Given the description of an element on the screen output the (x, y) to click on. 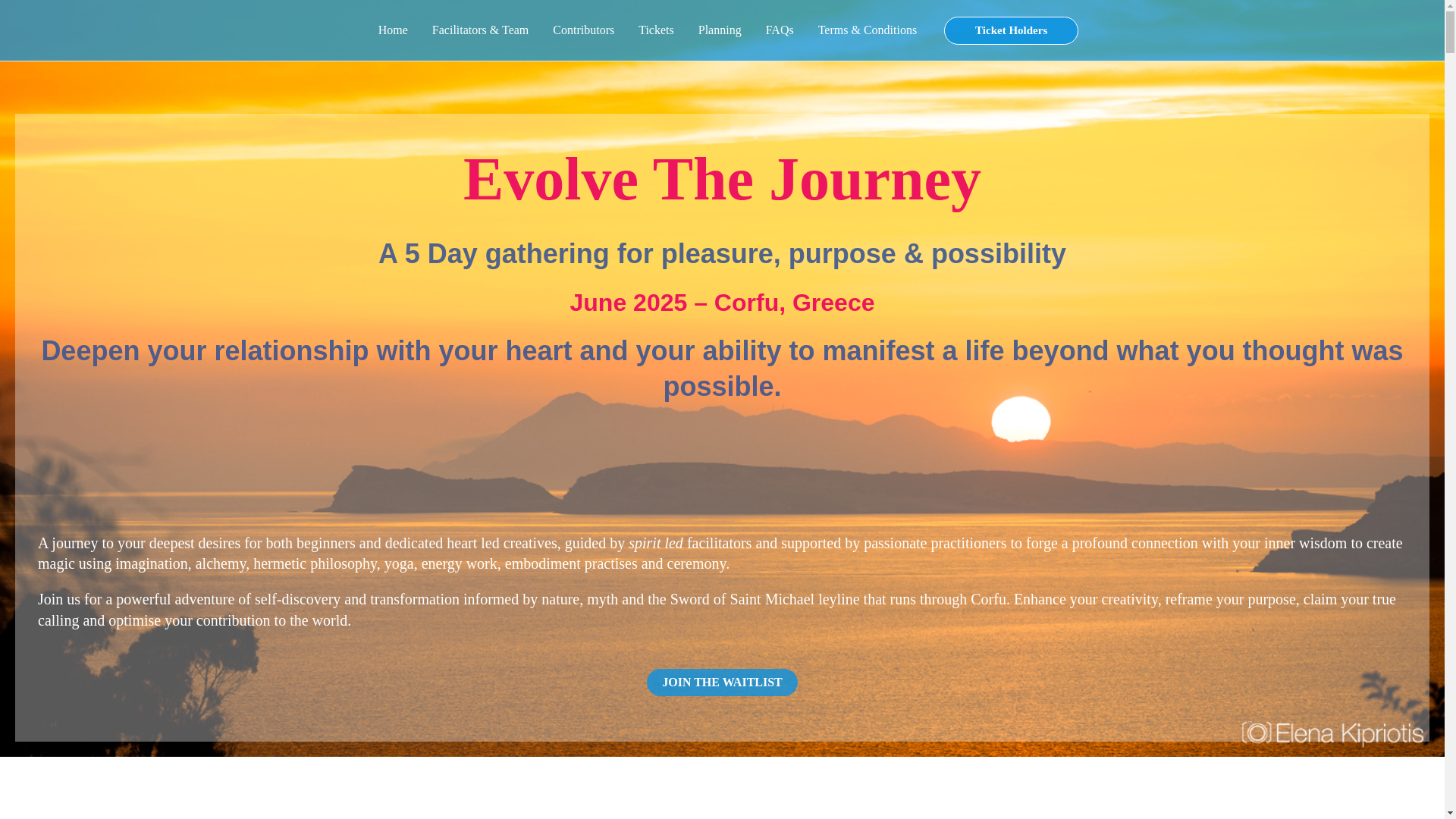
JOIN THE WAITLIST (721, 682)
Tickets (655, 30)
Planning (719, 30)
Contributors (583, 30)
Ticket Holders (1010, 30)
